Given the description of an element on the screen output the (x, y) to click on. 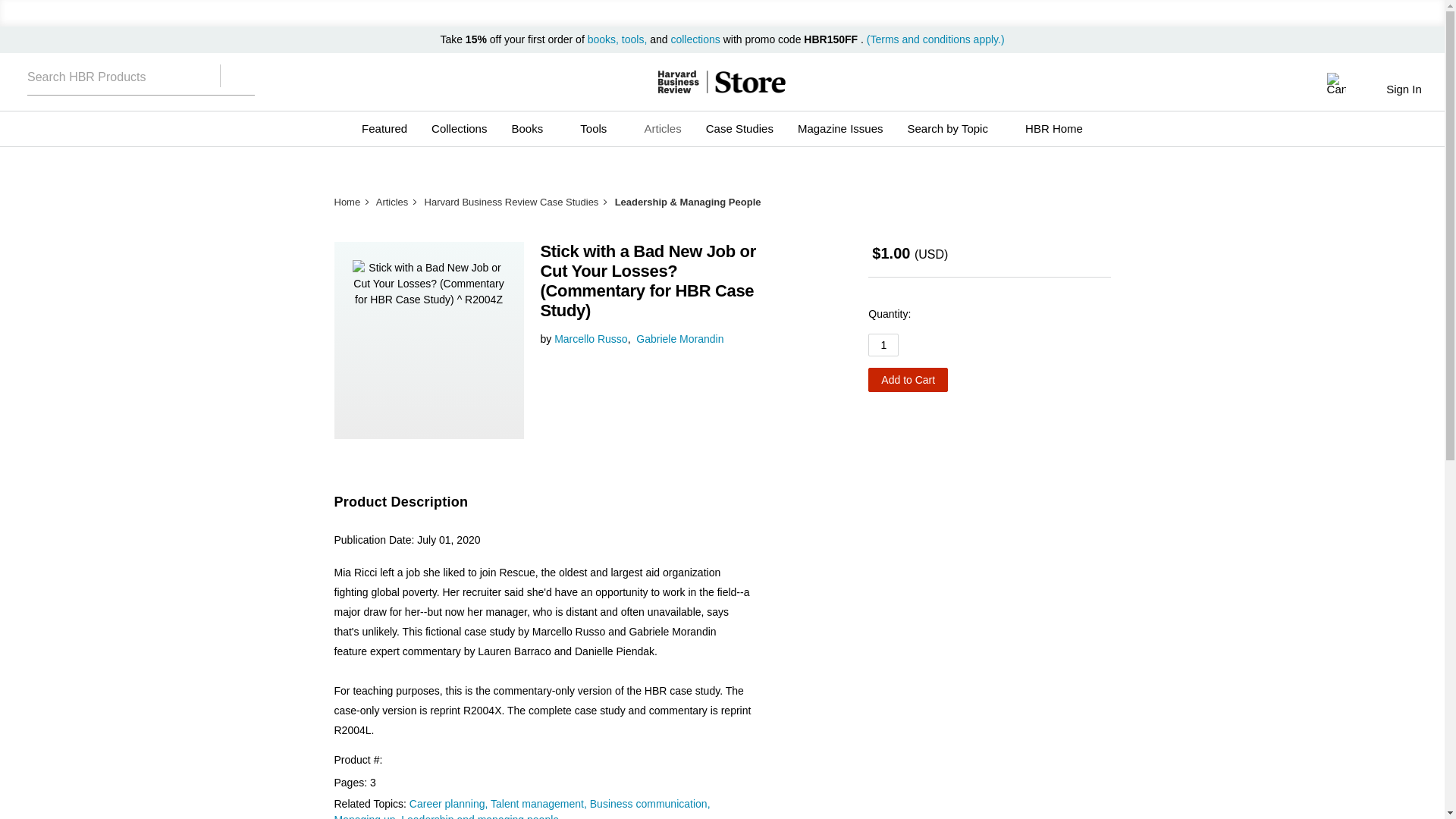
Books (533, 128)
collections (694, 39)
Tools (599, 128)
Featured (384, 128)
1 (882, 344)
Collections (459, 128)
HBR.ORG - Prod (678, 81)
Add to Cart (907, 379)
Sign In (1403, 88)
books, (604, 39)
tools, (633, 39)
